Given the description of an element on the screen output the (x, y) to click on. 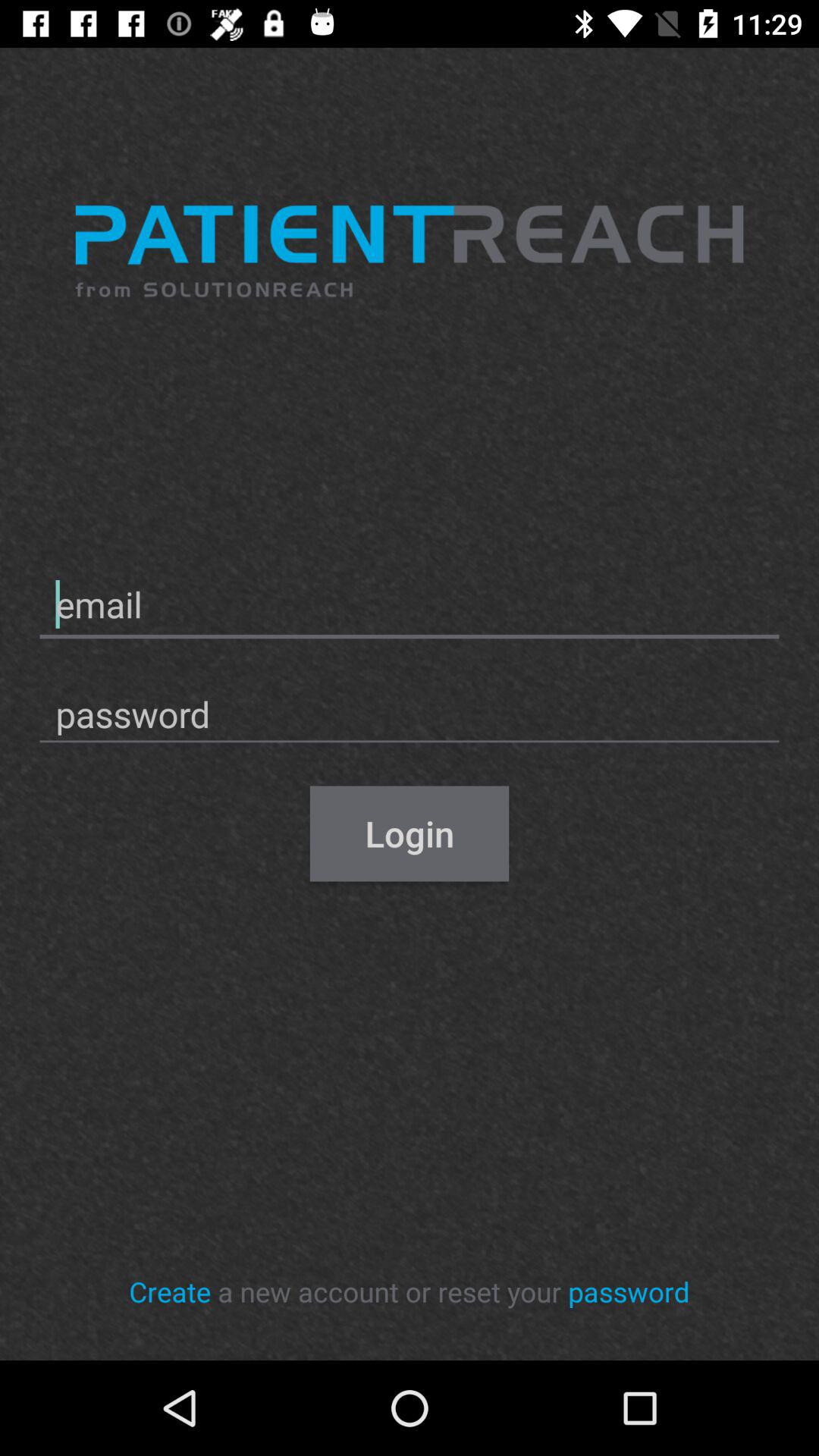
click the password (628, 1291)
